Given the description of an element on the screen output the (x, y) to click on. 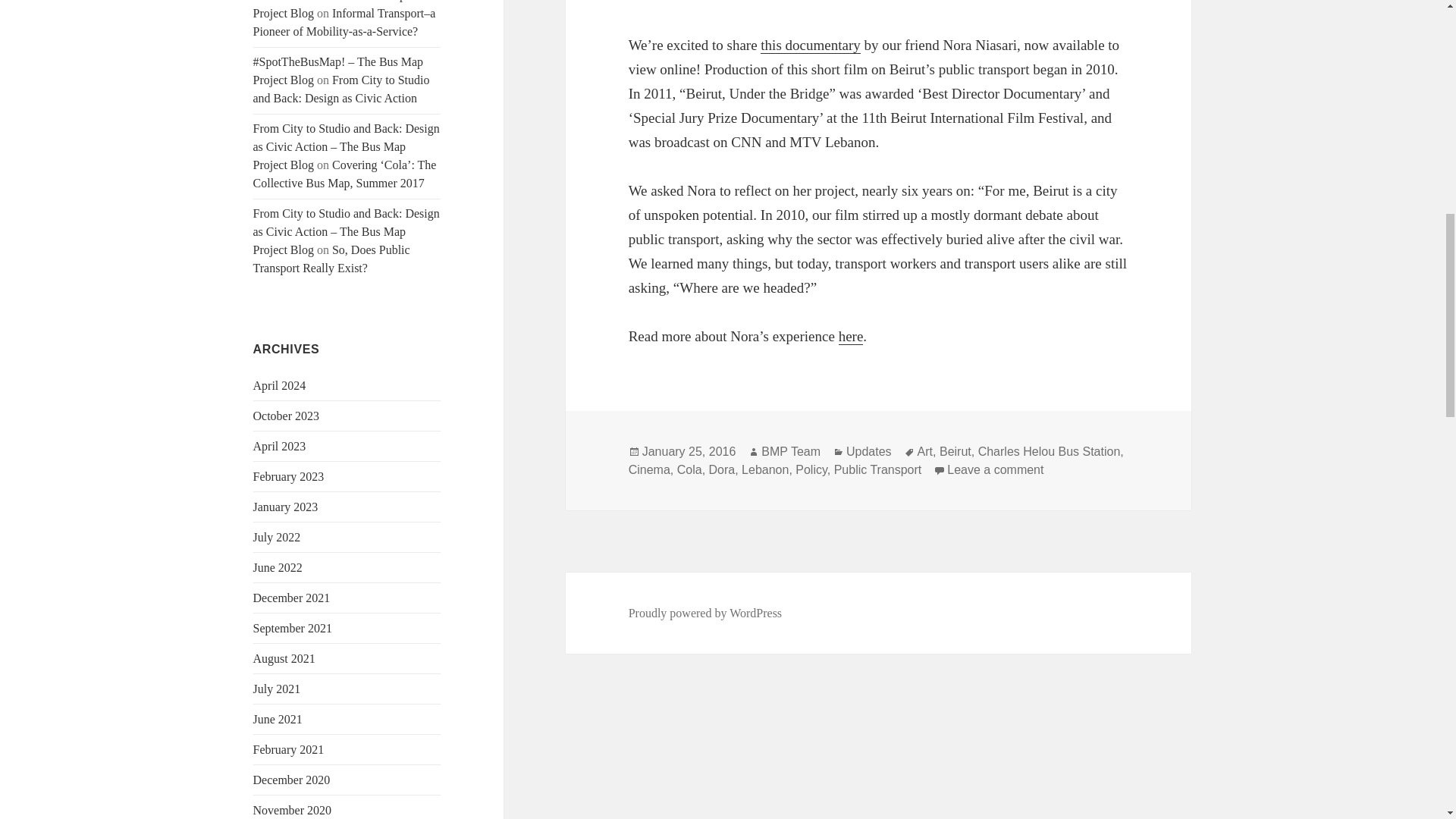
June 2021 (277, 718)
February 2023 (288, 476)
April 2024 (279, 385)
August 2021 (284, 658)
November 2020 (292, 809)
From City to Studio and Back: Design as Civic Action (341, 88)
December 2021 (291, 597)
February 2021 (288, 748)
July 2022 (277, 536)
December 2020 (291, 779)
